Given the description of an element on the screen output the (x, y) to click on. 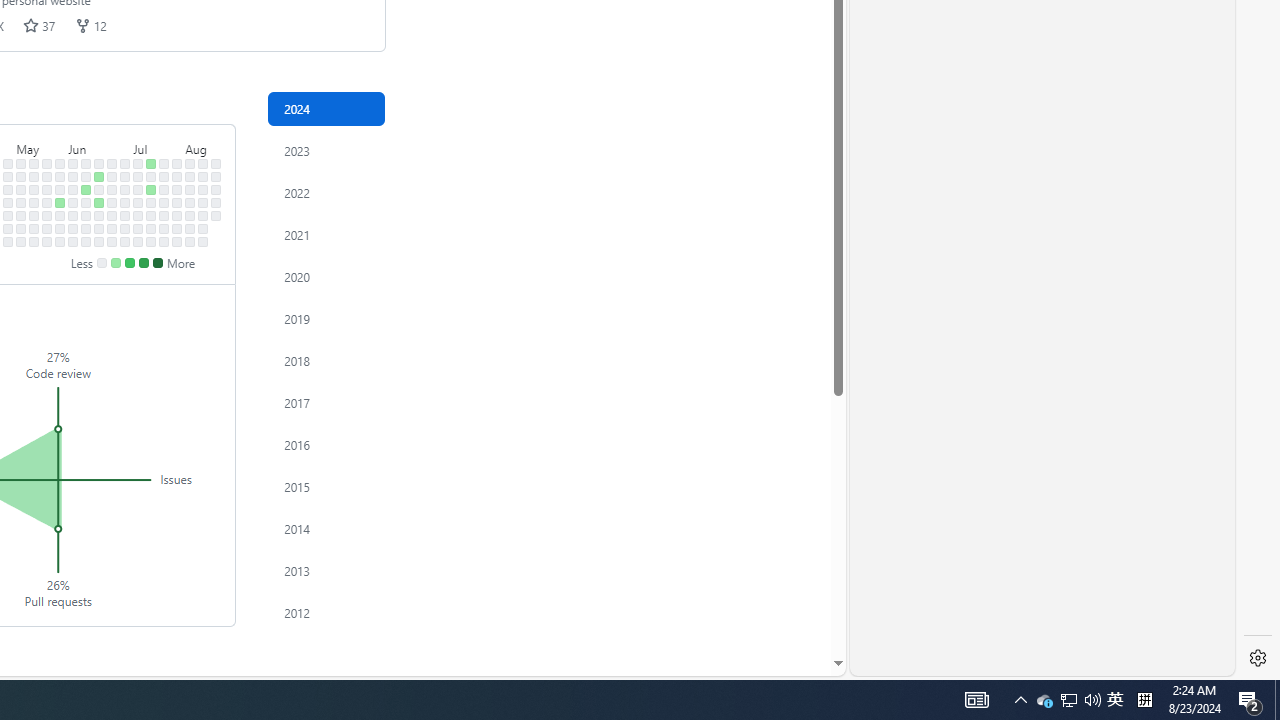
1 contribution on June 17th. (98, 176)
No contributions on June 5th. (73, 202)
No contributions on July 21st. (164, 163)
No contributions on June 7th. (73, 228)
2013 (326, 570)
Contribution activity in 2016 (326, 444)
2022 (326, 192)
No contributions on April 28th. (8, 163)
No contributions on July 30th. (177, 189)
2021 (326, 233)
Contribution activity in 2018 (326, 360)
No contributions on May 1st. (8, 202)
No contributions on June 21st. (98, 228)
No contributions on July 11th. (138, 215)
No contributions on June 16th. (98, 163)
